Given the description of an element on the screen output the (x, y) to click on. 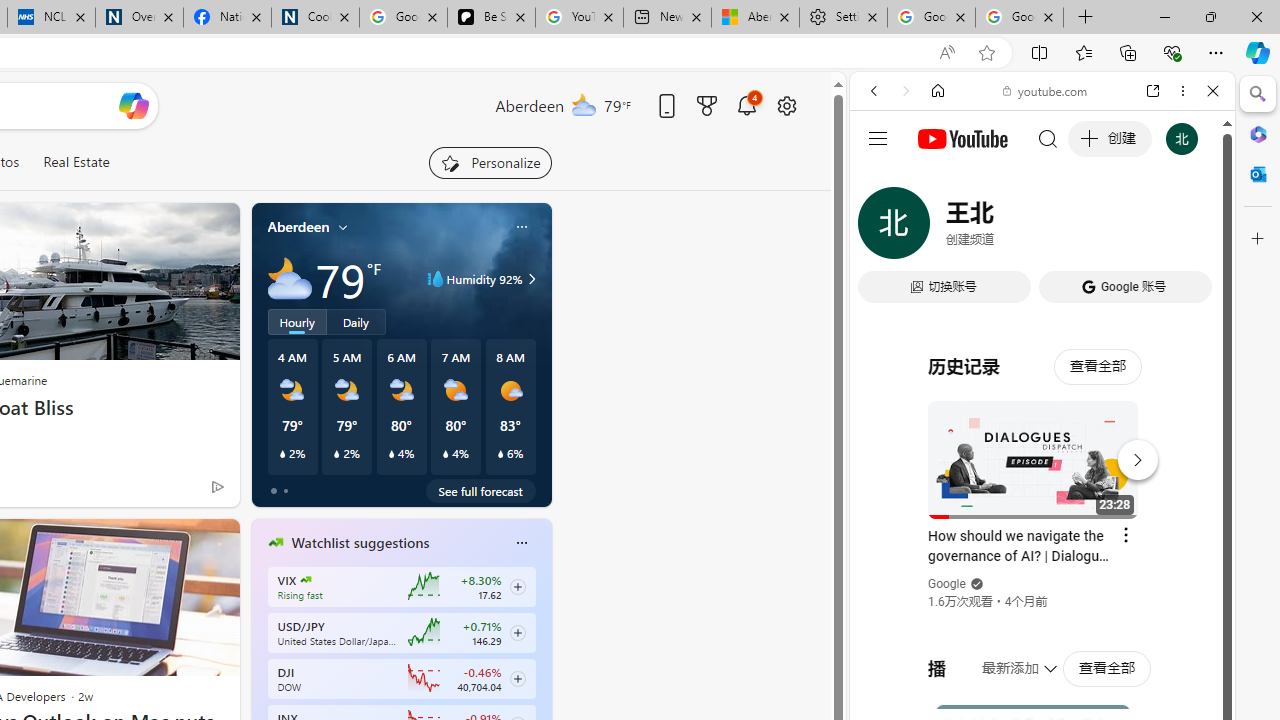
Show More Music (1164, 546)
Search Filter, WEB (882, 228)
